Given the description of an element on the screen output the (x, y) to click on. 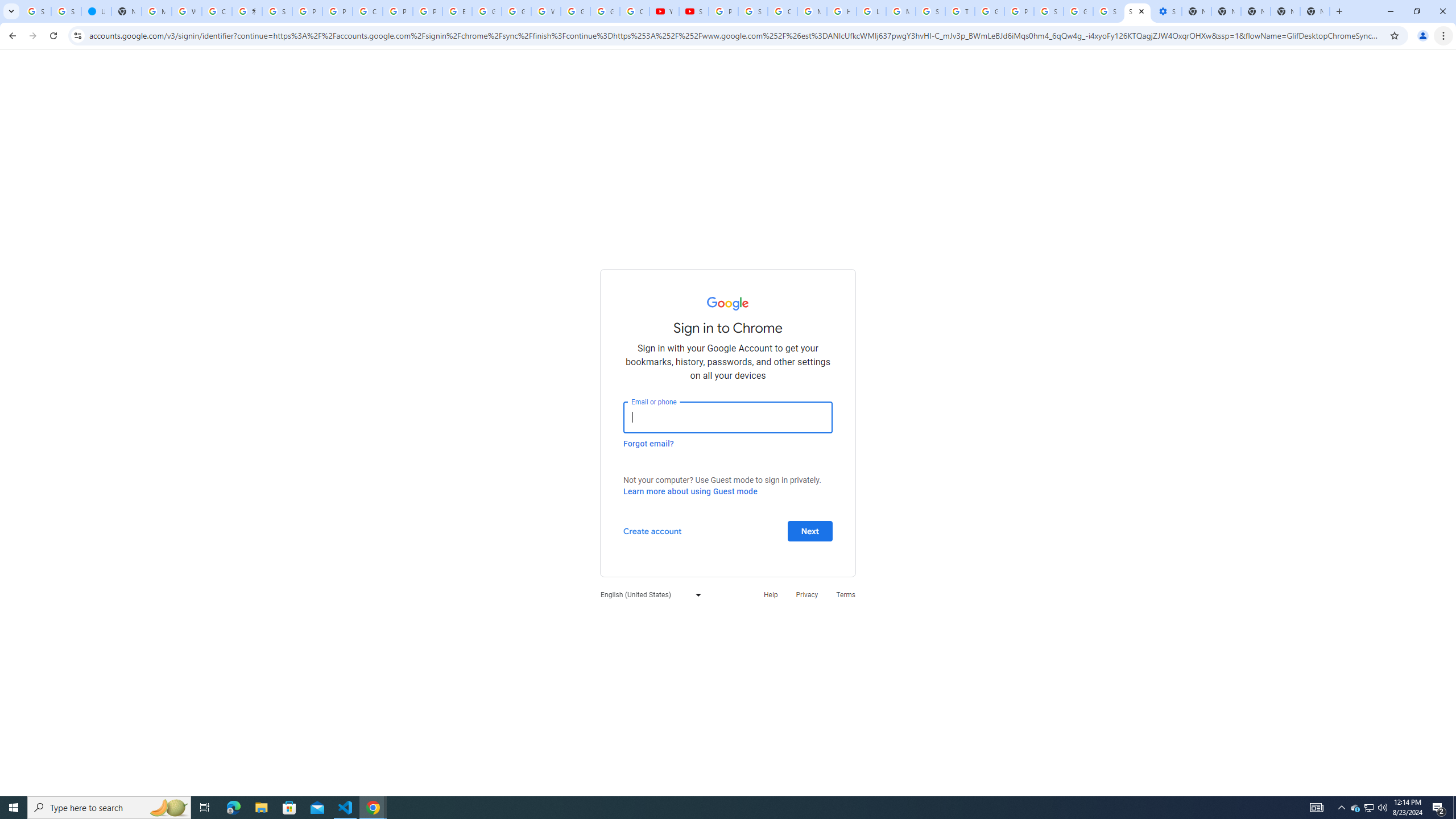
Welcome to My Activity (545, 11)
Sign in - Google Accounts (753, 11)
Learn more about using Guest mode (689, 491)
Who is my administrator? - Google Account Help (185, 11)
English (United States) (647, 594)
Create your Google Account (367, 11)
